Given the description of an element on the screen output the (x, y) to click on. 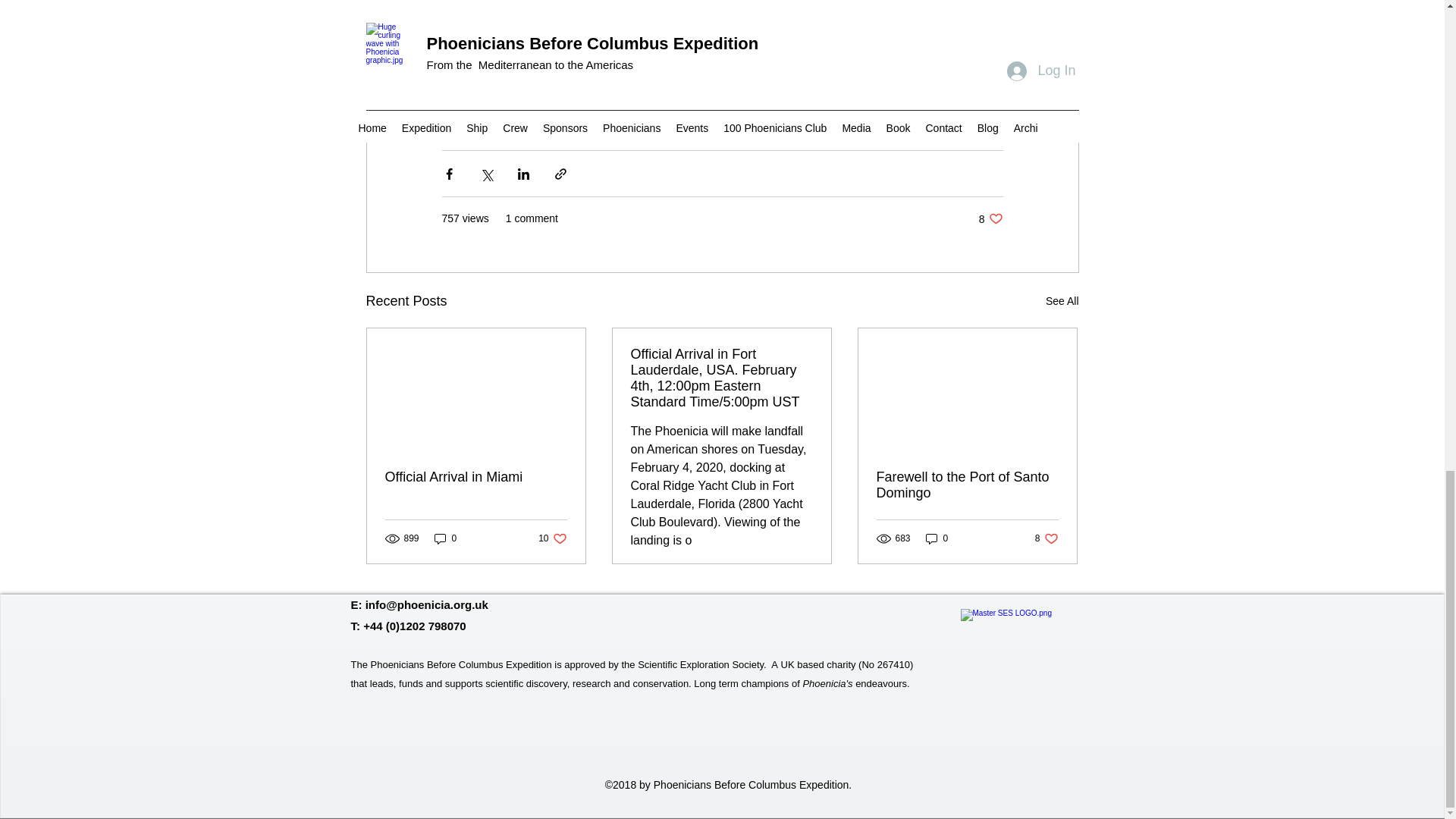
See All (990, 218)
Farewell to the Port of Santo Domingo (1061, 301)
0 (967, 485)
0 (445, 538)
Official Arrival in Miami (552, 538)
